Given the description of an element on the screen output the (x, y) to click on. 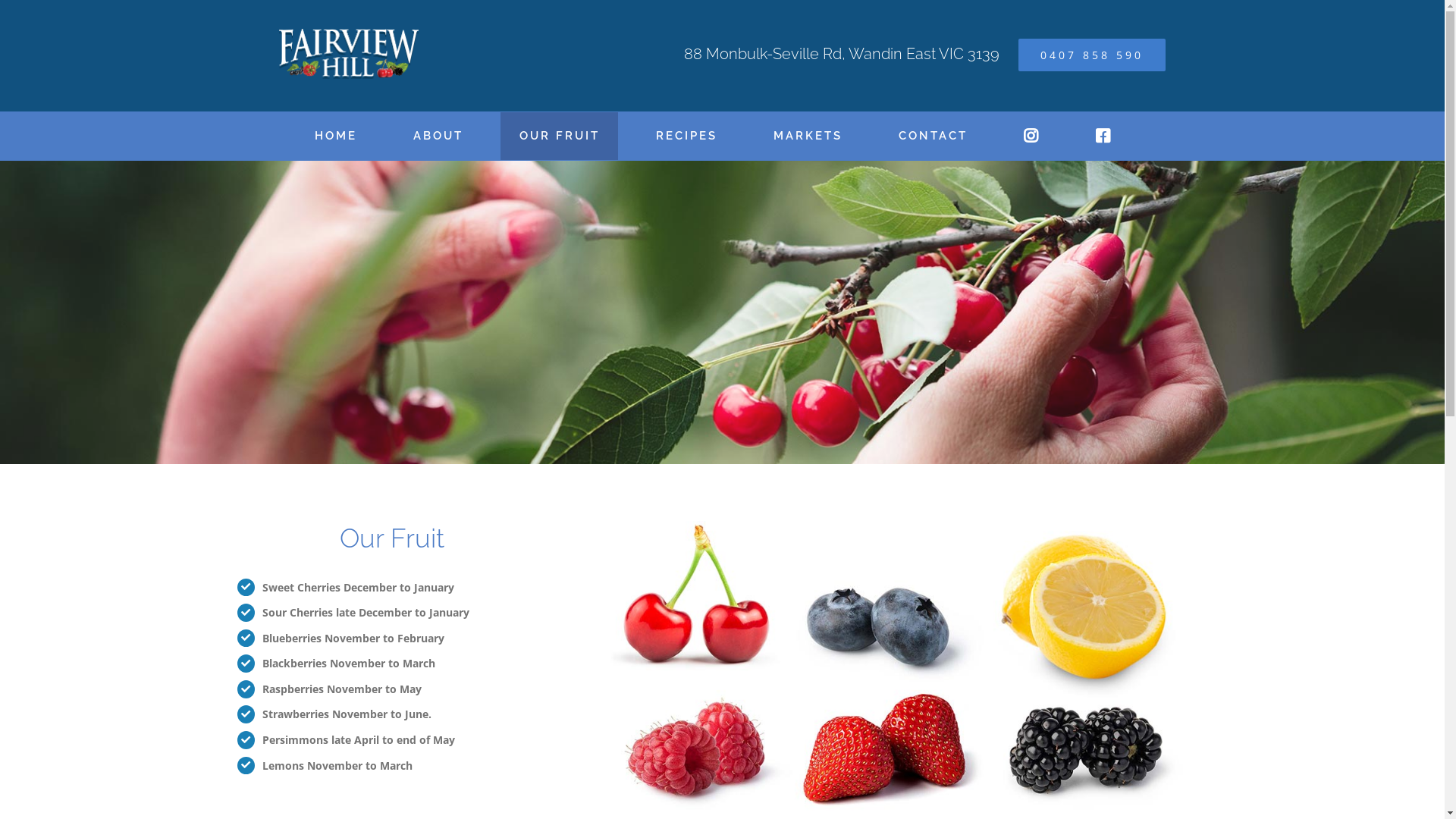
0407 858 590 Element type: text (1091, 54)
OUR FRUIT Element type: text (559, 136)
RECIPES Element type: text (686, 136)
CONTACT Element type: text (932, 136)
HOME Element type: text (335, 136)
MARKETS Element type: text (807, 136)
ABOUT Element type: text (437, 136)
